Given the description of an element on the screen output the (x, y) to click on. 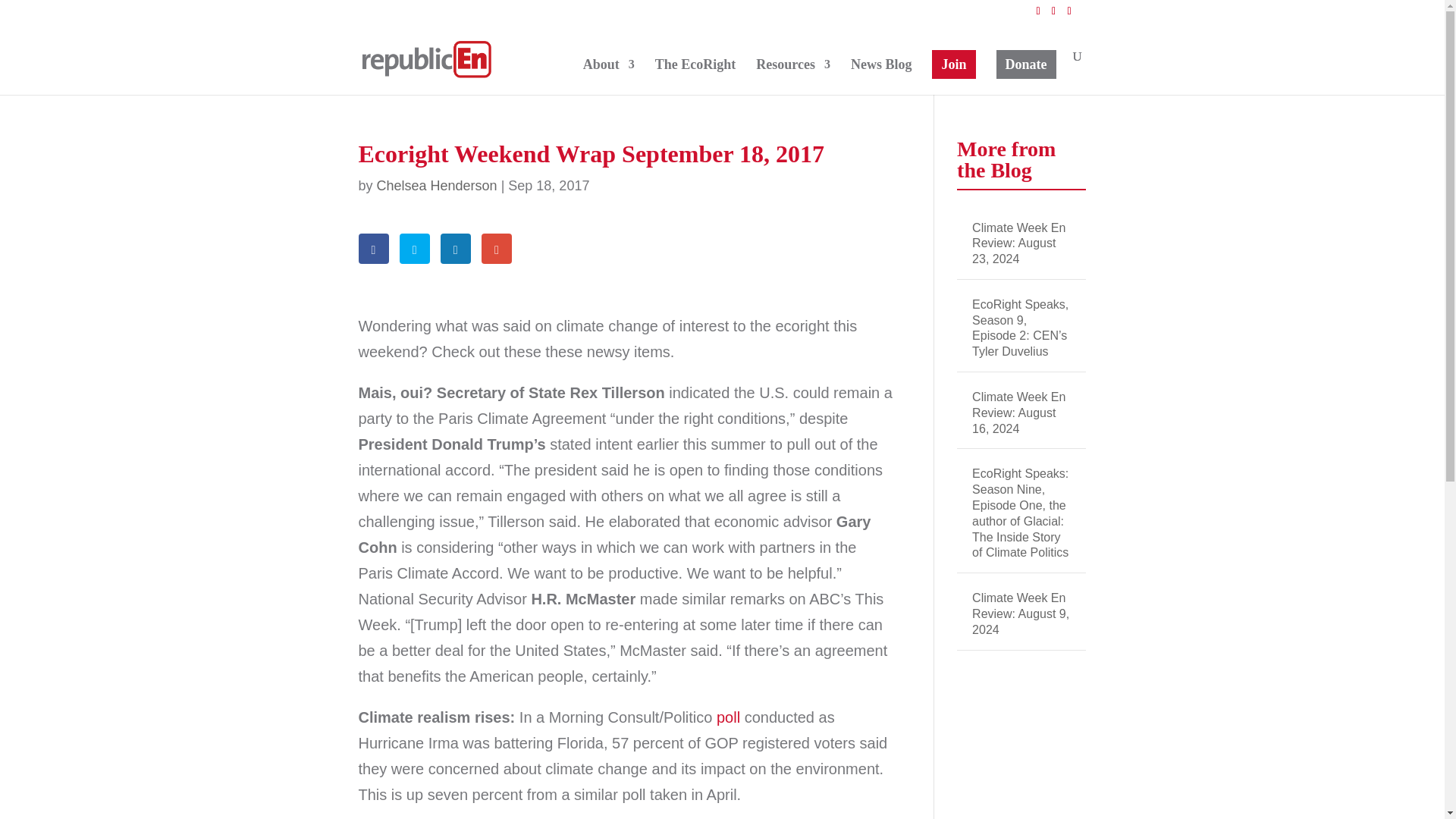
poll (727, 717)
Donate (1026, 63)
Climate Week En Review: August 23, 2024 (1018, 243)
Posts by Chelsea Henderson (437, 185)
News Blog (881, 76)
Climate Week En Review: August 16, 2024 (1018, 412)
Chelsea Henderson (437, 185)
Resources (792, 76)
Climate Week En Review: August 9, 2024 (1020, 613)
